Given the description of an element on the screen output the (x, y) to click on. 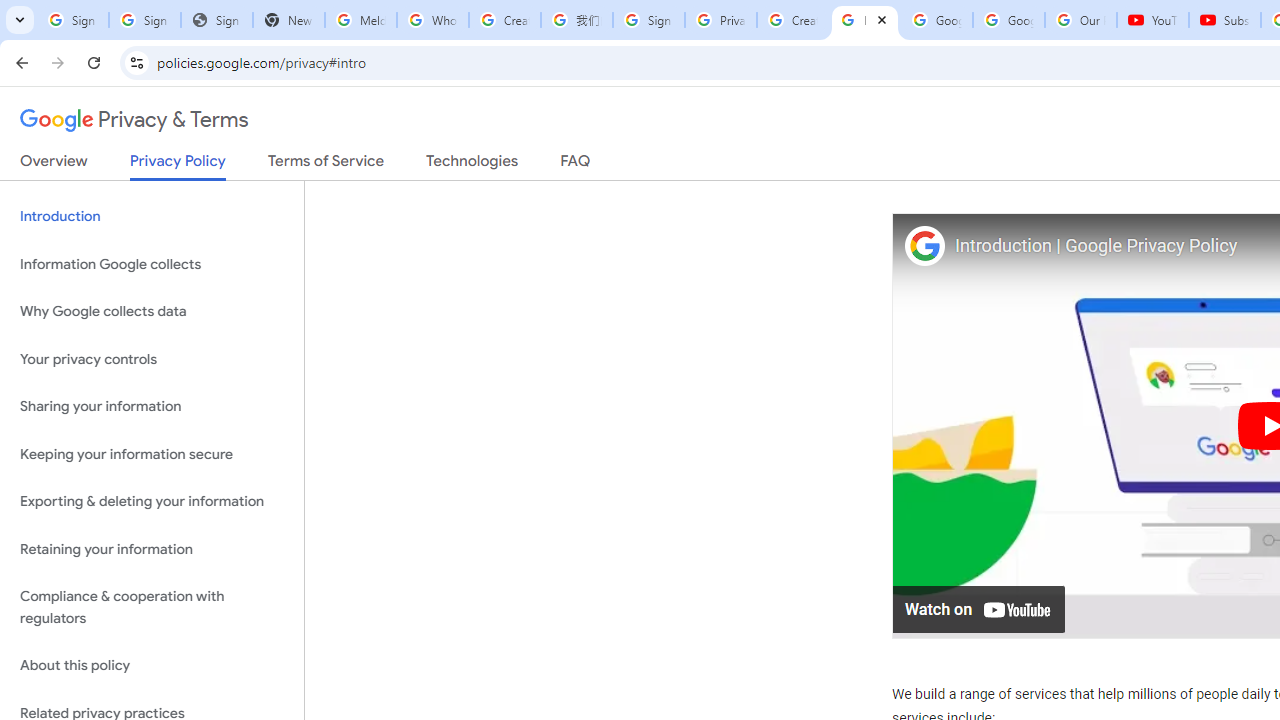
Subscriptions - YouTube (1224, 20)
Sign in - Google Accounts (144, 20)
Why Google collects data (152, 312)
Keeping your information secure (152, 453)
Sharing your information (152, 407)
Compliance & cooperation with regulators (152, 607)
About this policy (152, 666)
Google Account (1008, 20)
Your privacy controls (152, 358)
Who is my administrator? - Google Account Help (432, 20)
